Given the description of an element on the screen output the (x, y) to click on. 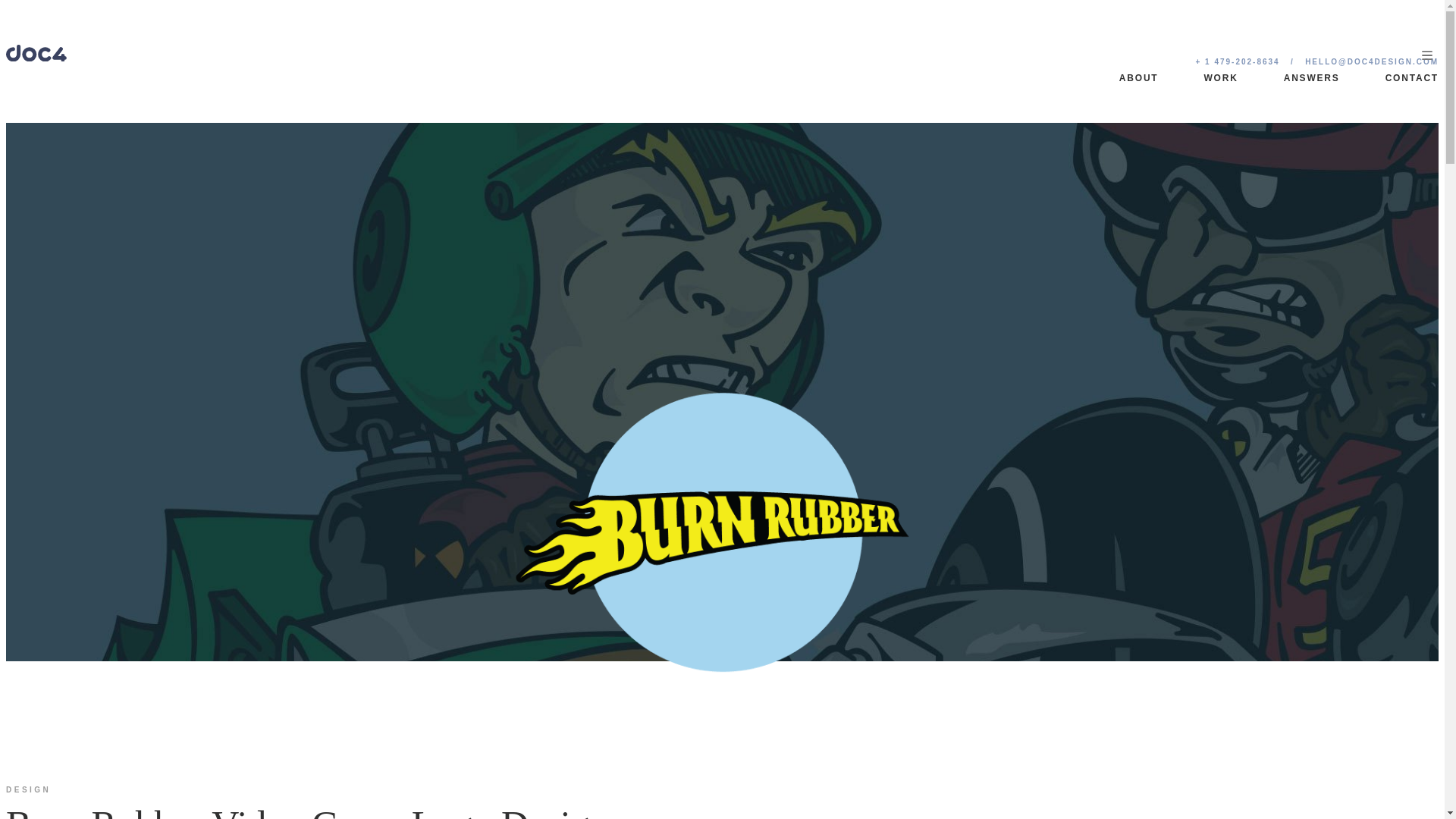
WORK (1220, 77)
ABOUT (1138, 77)
ANSWERS (1311, 77)
